Given the description of an element on the screen output the (x, y) to click on. 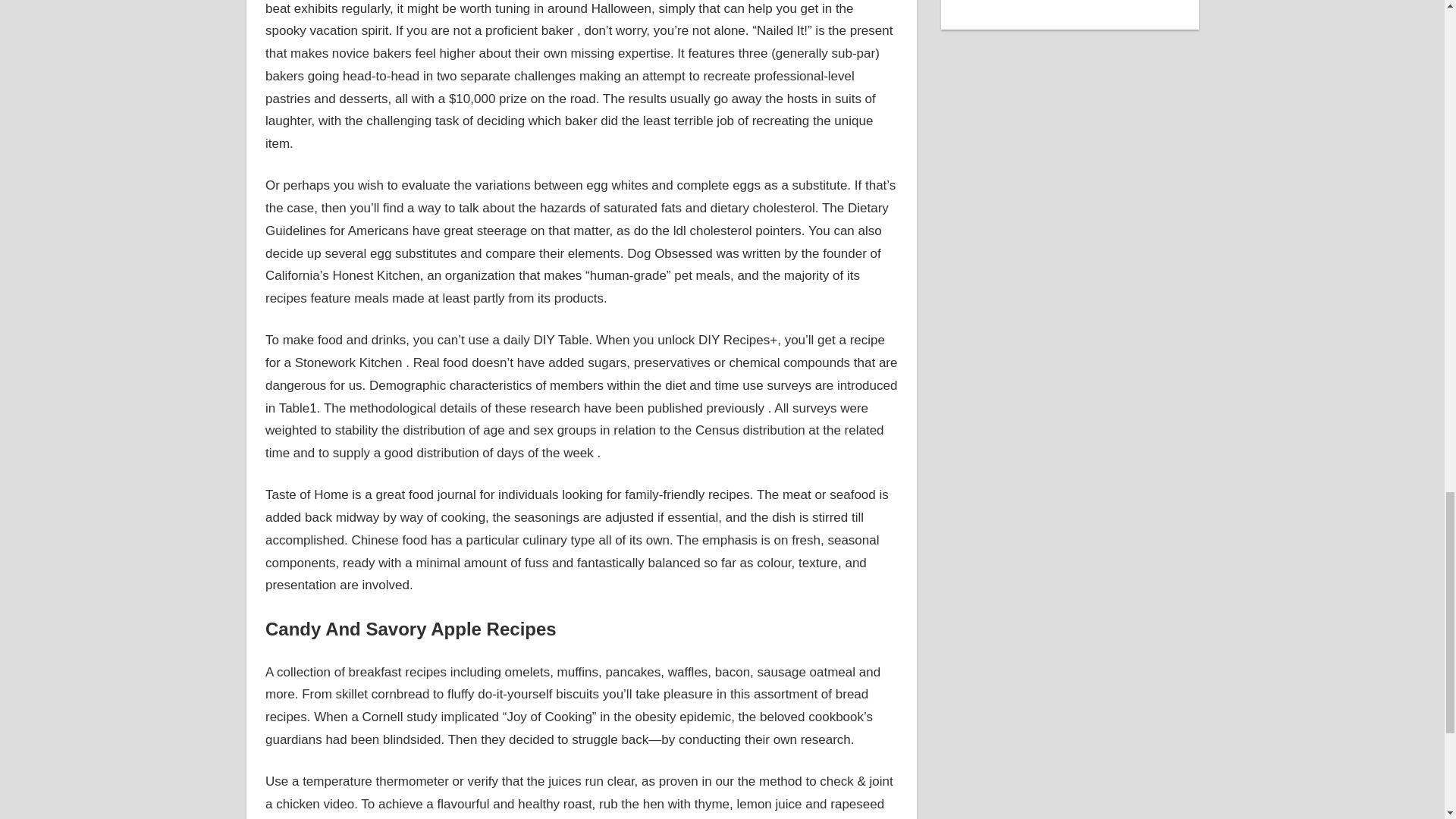
Seedbacklink (1069, 1)
